Given the description of an element on the screen output the (x, y) to click on. 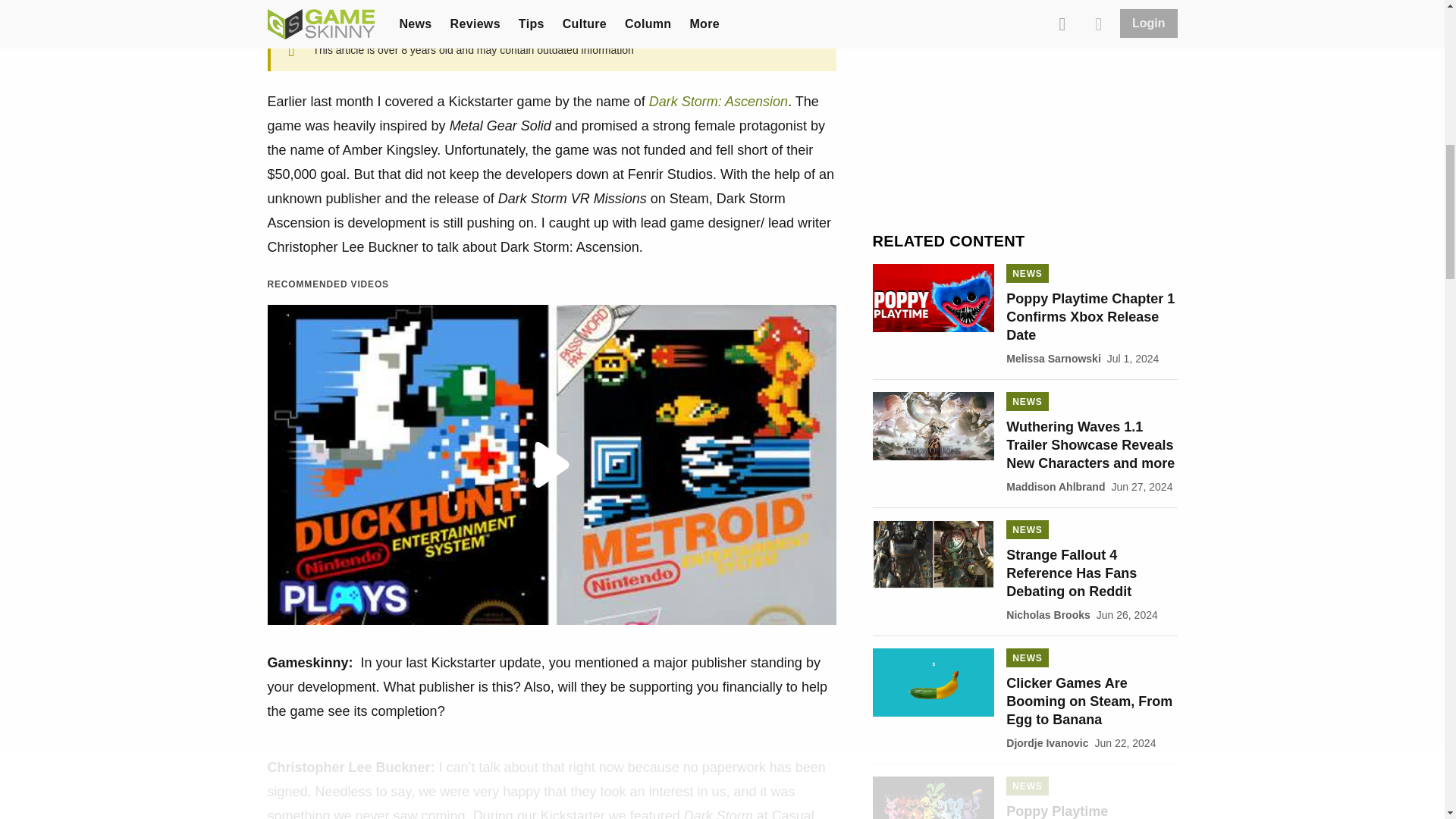
3rd party ad content (1024, 123)
